Given the description of an element on the screen output the (x, y) to click on. 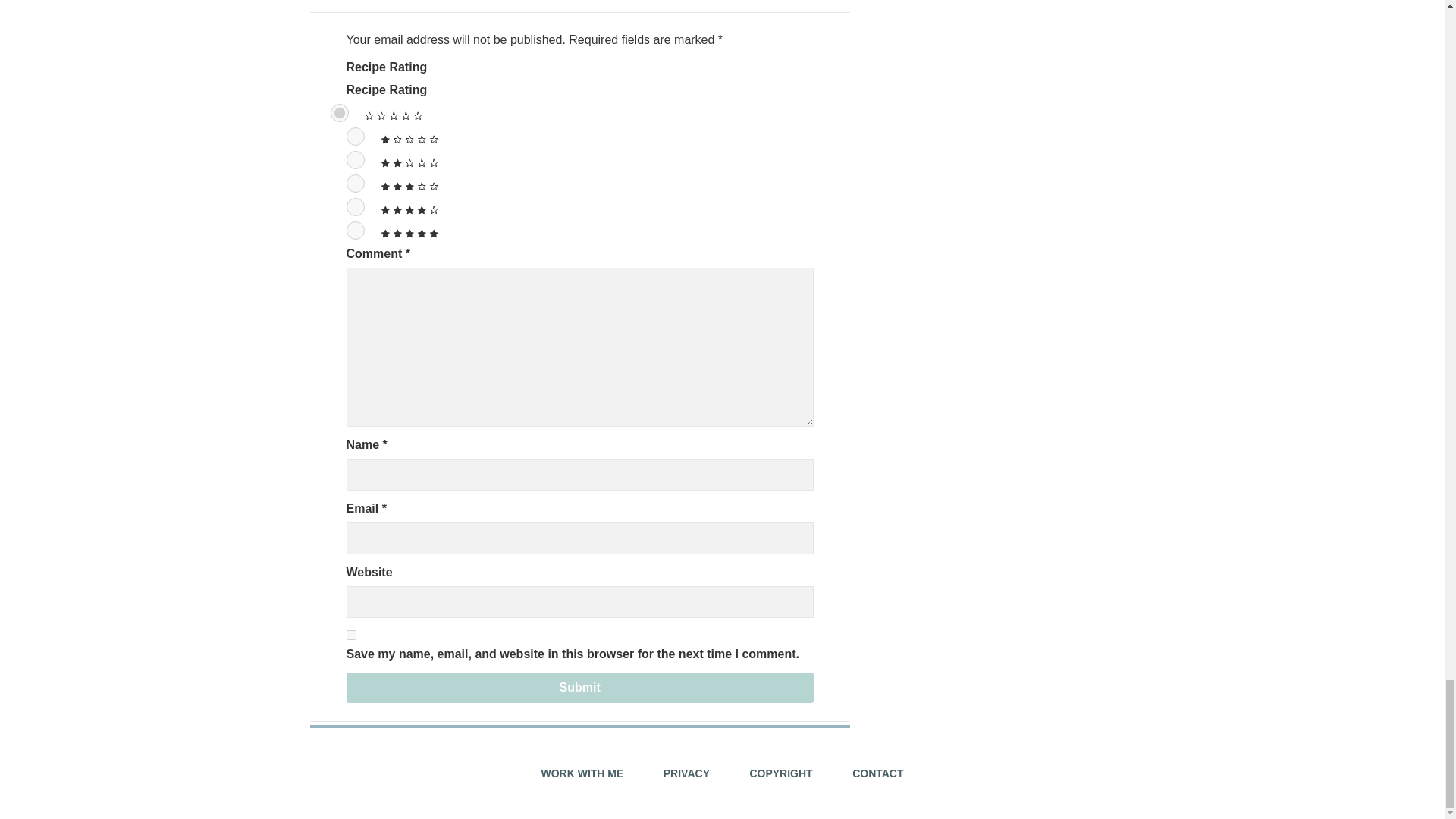
4 (355, 207)
3 (355, 183)
5 (355, 230)
Submit (579, 687)
1 (355, 136)
yes (350, 634)
2 (355, 159)
0 (339, 113)
